Given the description of an element on the screen output the (x, y) to click on. 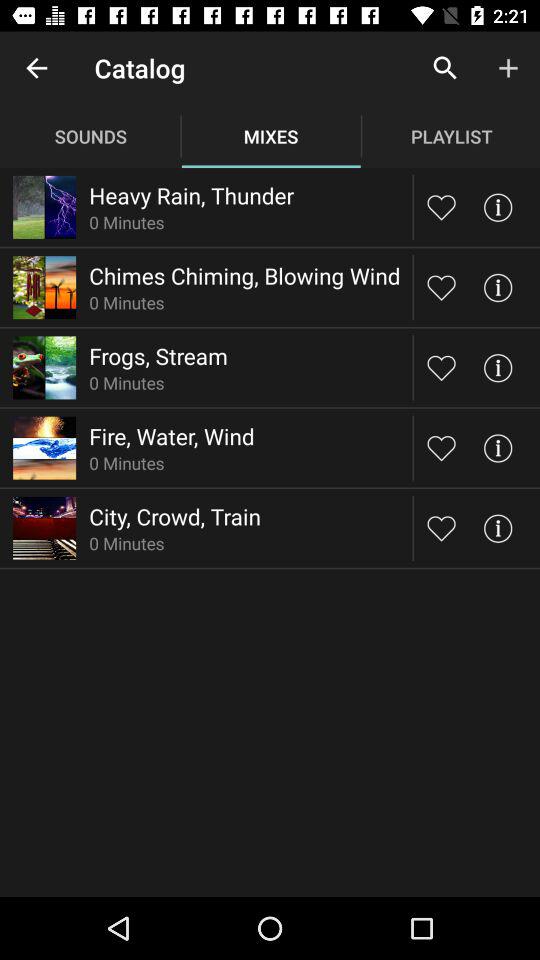
more information (498, 447)
